Given the description of an element on the screen output the (x, y) to click on. 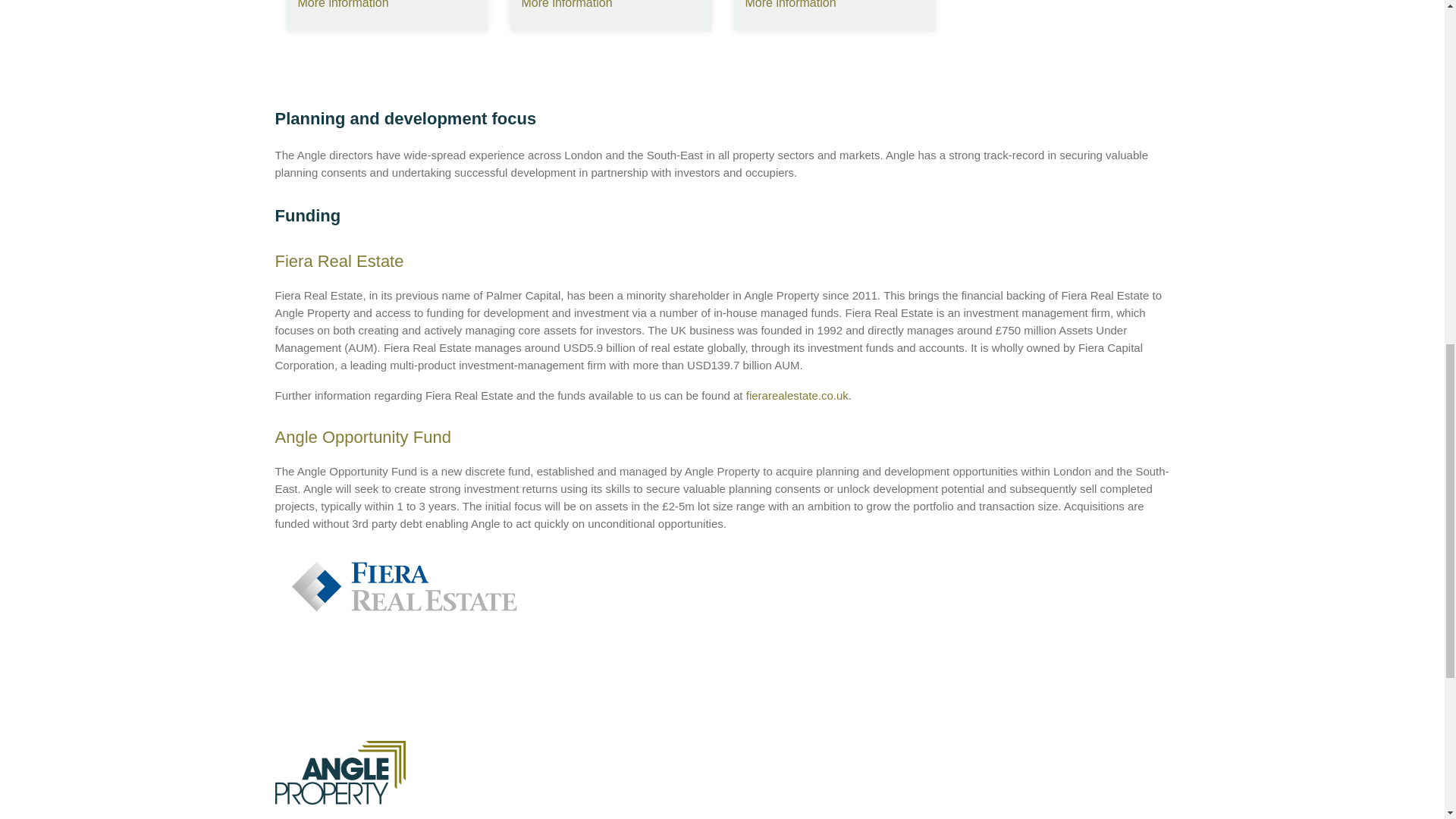
More information (342, 4)
